Given the description of an element on the screen output the (x, y) to click on. 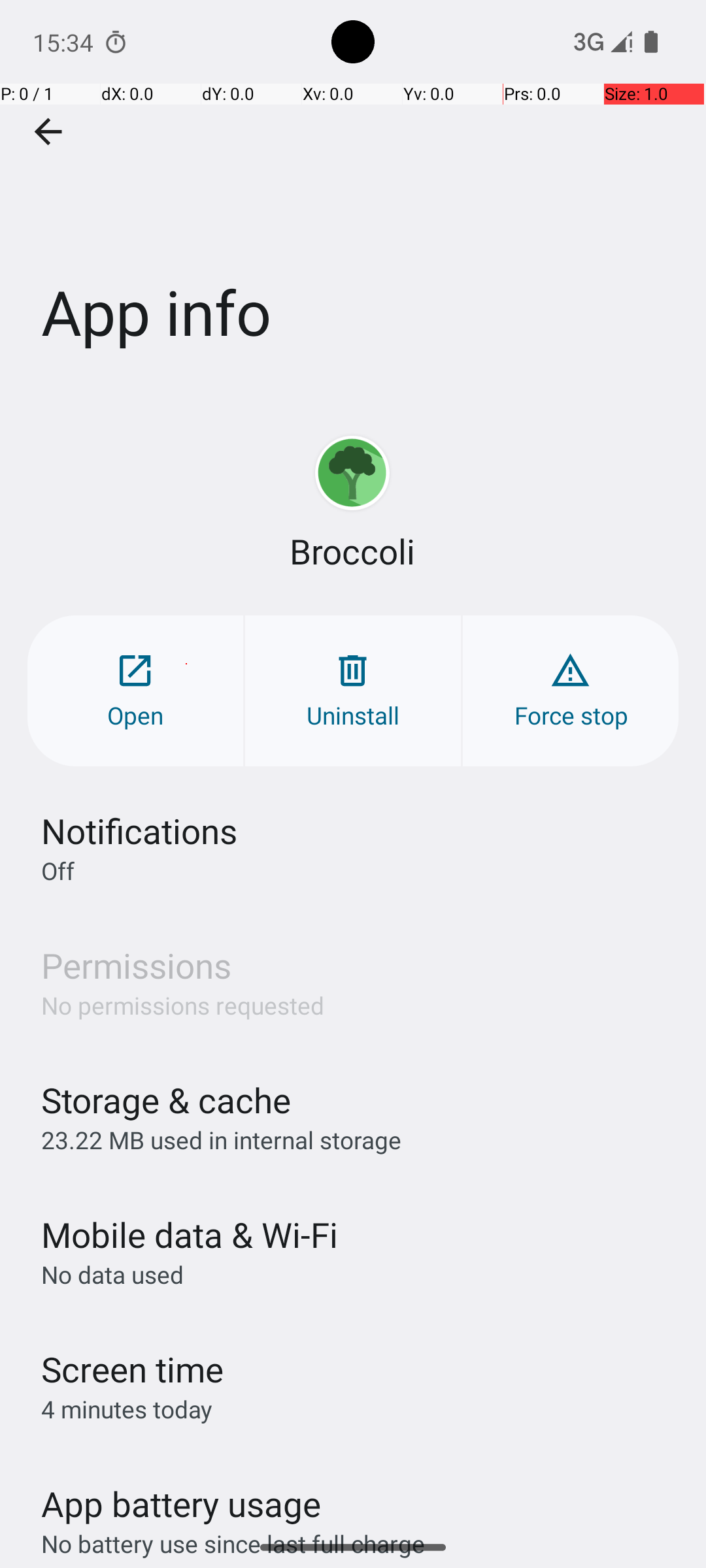
No permissions requested Element type: android.widget.TextView (182, 1004)
23.22 MB used in internal storage Element type: android.widget.TextView (221, 1139)
4 minutes today Element type: android.widget.TextView (127, 1408)
